Given the description of an element on the screen output the (x, y) to click on. 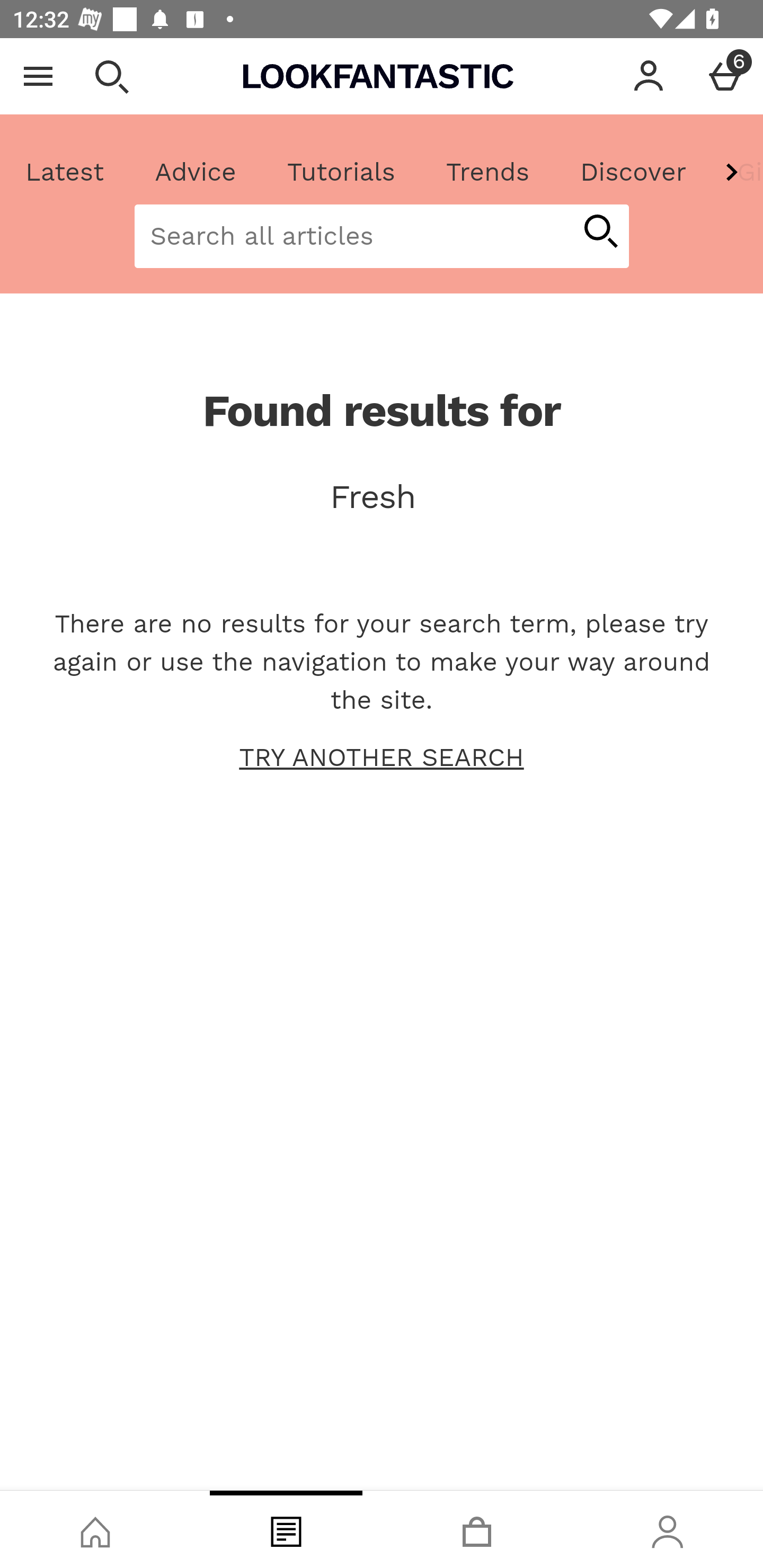
Open Menu (38, 75)
Open search (111, 75)
Account (648, 75)
Basket Menu (724, 75)
Latest (65, 172)
Advice (195, 172)
Tutorials (340, 172)
Trends (486, 172)
Discover (632, 172)
Gift Guide (736, 172)
start article search (599, 232)
Fresh (381, 496)
TRY ANOTHER SEARCH (381, 757)
Shop, tab, 1 of 4 (95, 1529)
Blog, tab, 2 of 4 (285, 1529)
Basket, tab, 3 of 4 (476, 1529)
Account, tab, 4 of 4 (667, 1529)
